Given the description of an element on the screen output the (x, y) to click on. 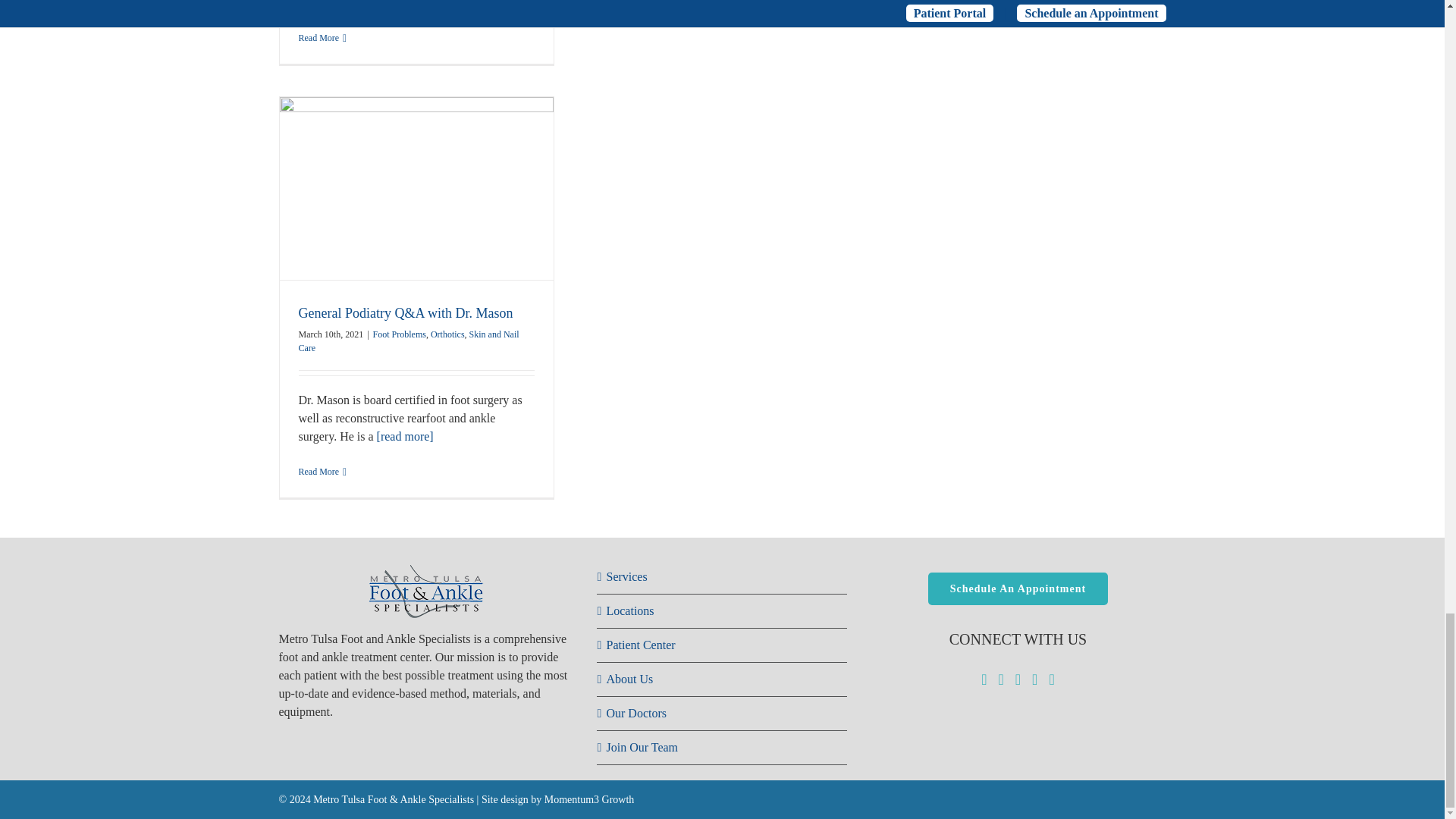
LinkedIn (1051, 679)
Twitter (1000, 679)
Instagram (1034, 679)
YouTube (1017, 679)
Visit Momentum3 Growth (557, 799)
Facebook (984, 679)
